Given the description of an element on the screen output the (x, y) to click on. 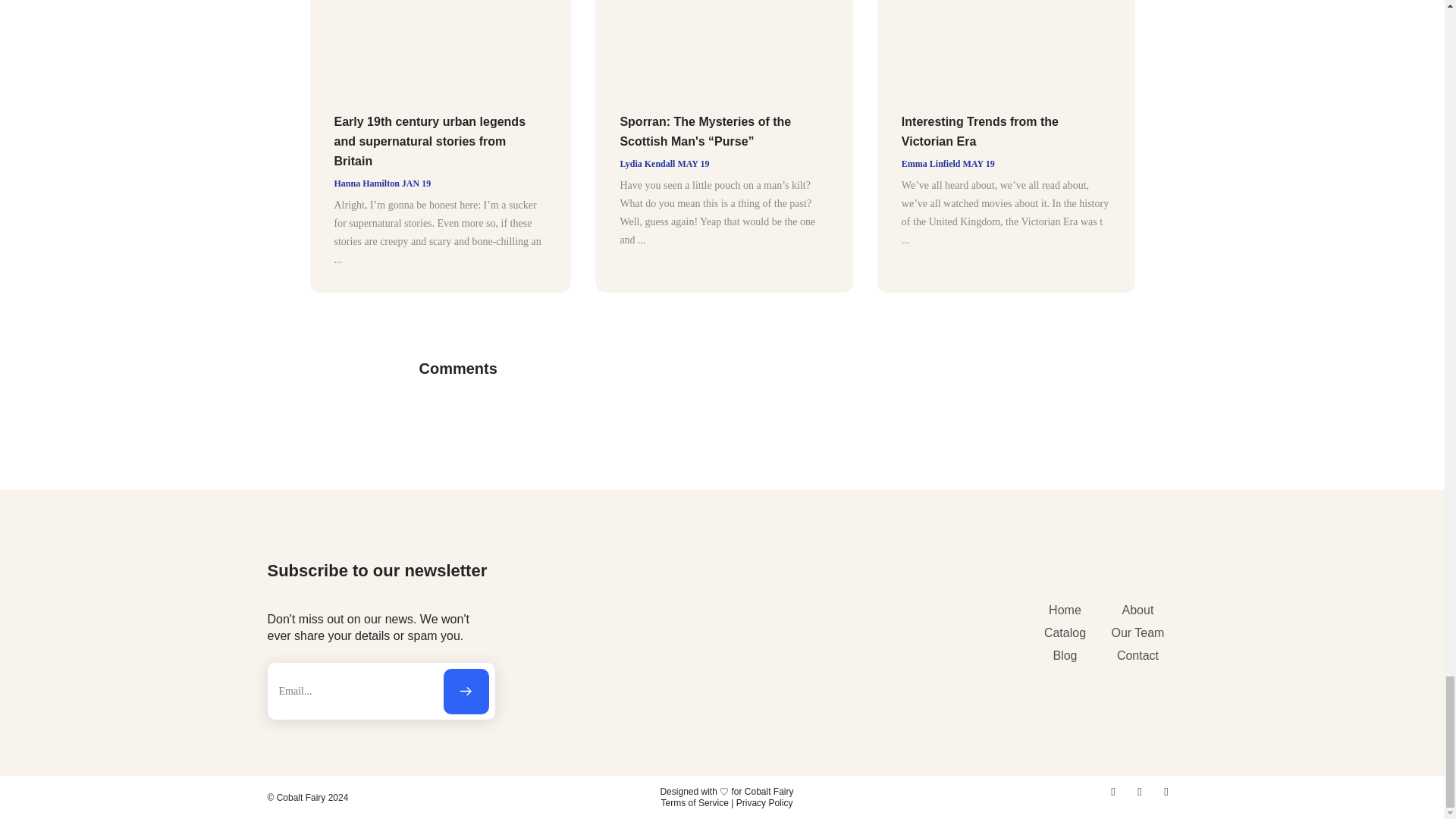
Our Team (1137, 632)
Catalog (1064, 632)
Terms of Service (695, 802)
Privacy Policy (764, 802)
About (1137, 609)
Contact (1137, 655)
Home (1064, 609)
Blog (1064, 655)
